Given the description of an element on the screen output the (x, y) to click on. 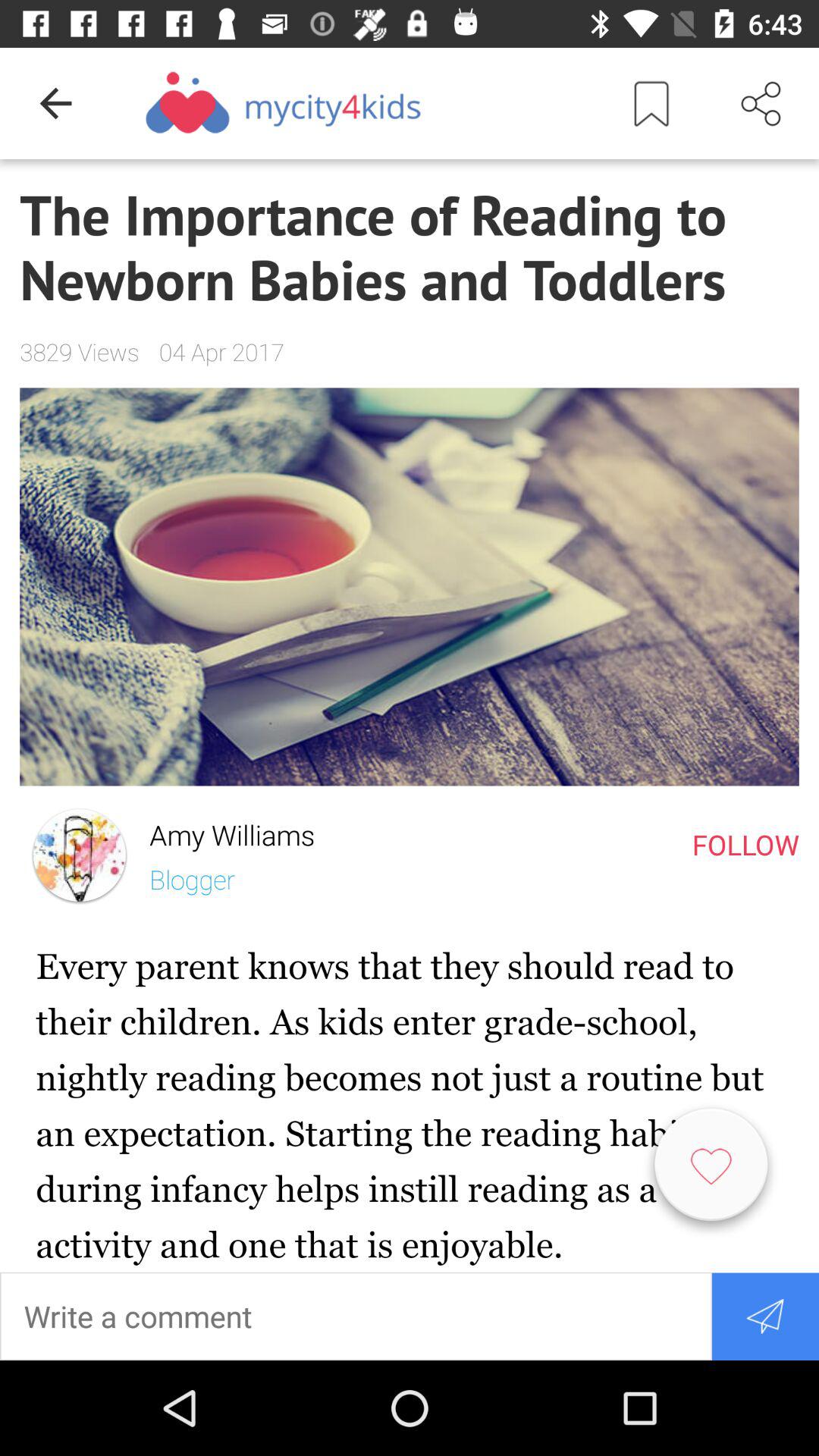
turn off amy williams (222, 831)
